Given the description of an element on the screen output the (x, y) to click on. 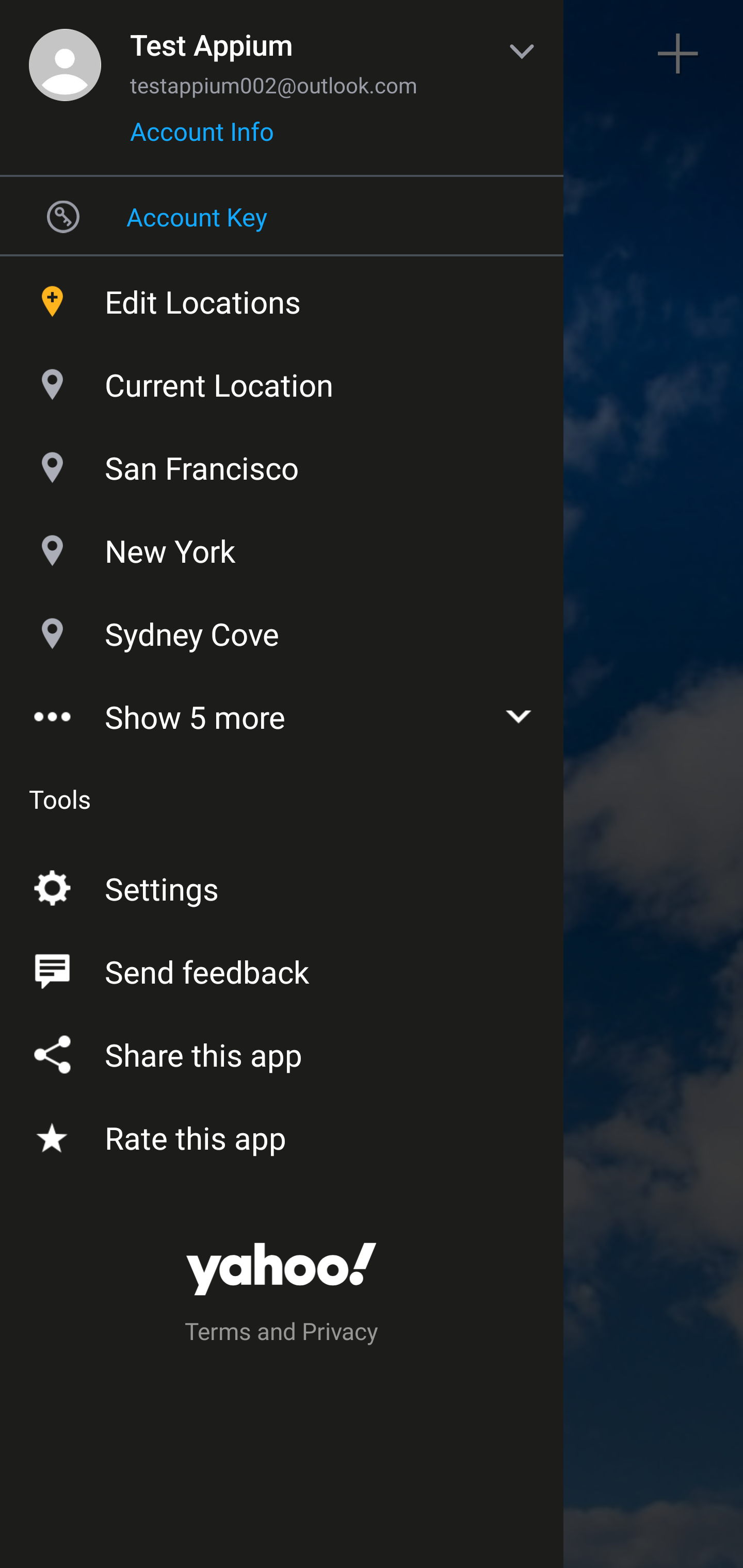
Sidebar (64, 54)
Account Info (202, 137)
Account Key (281, 216)
Edit Locations (281, 296)
Current Location (281, 379)
San Francisco (281, 462)
New York (281, 546)
Sydney Cove (281, 629)
Settings (281, 884)
Send feedback (281, 967)
Share this app (281, 1050)
Terms and Privacy Terms and privacy button (281, 1334)
